Given the description of an element on the screen output the (x, y) to click on. 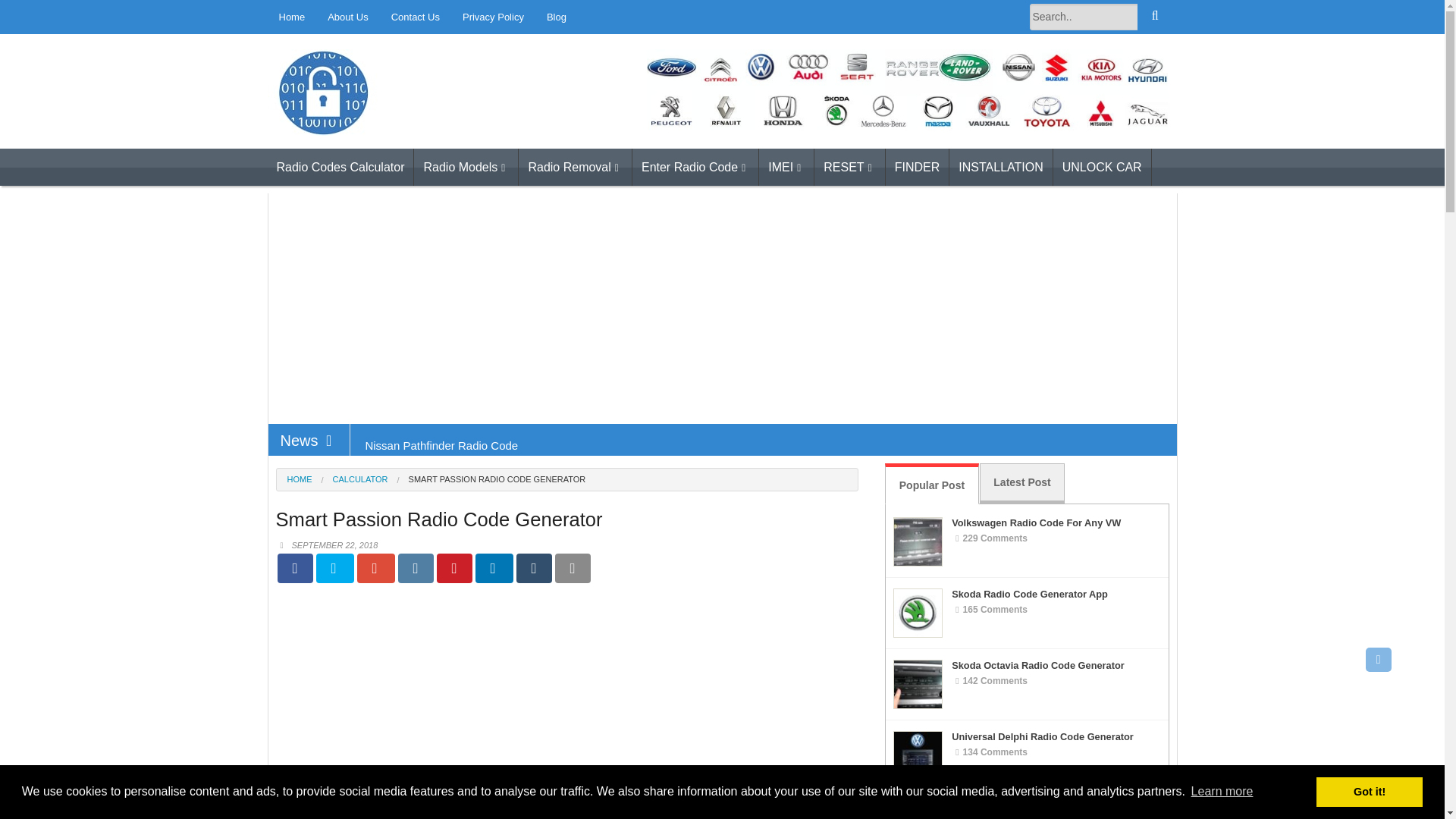
Radio Codes Calculator (339, 167)
Blog (556, 17)
Home (290, 17)
About Us (346, 17)
Radio Codes Calculator (394, 154)
Privacy Policy (493, 17)
Contact Us (415, 17)
Go (1155, 17)
Advertisement (567, 690)
Learn more (1221, 791)
Radio Models (465, 167)
Nissan Pathfinder Radio Code (441, 444)
Got it! (1369, 791)
Go (1155, 17)
